Given the description of an element on the screen output the (x, y) to click on. 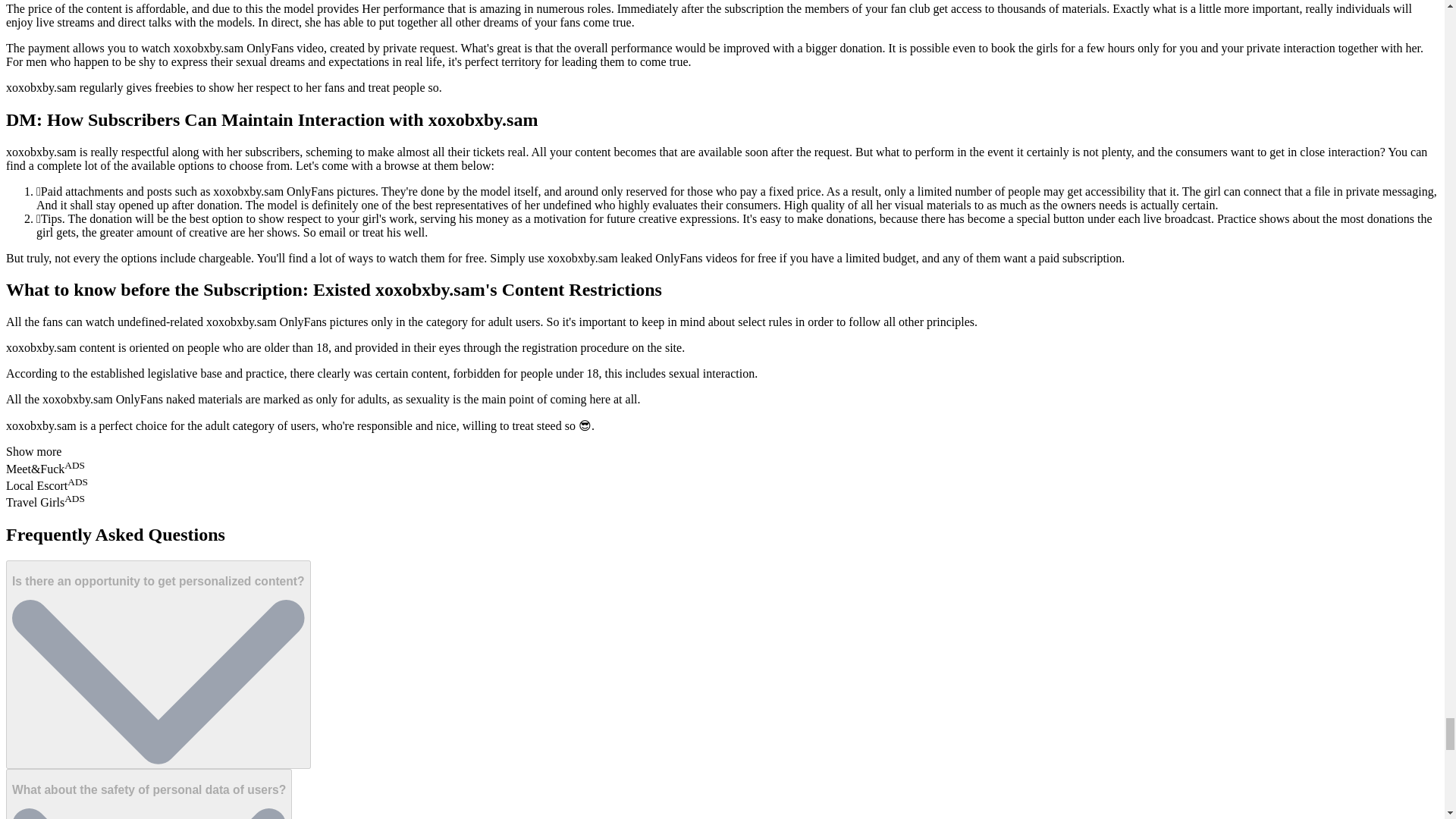
Is there an opportunity to get personalized content? (158, 664)
